Given the description of an element on the screen output the (x, y) to click on. 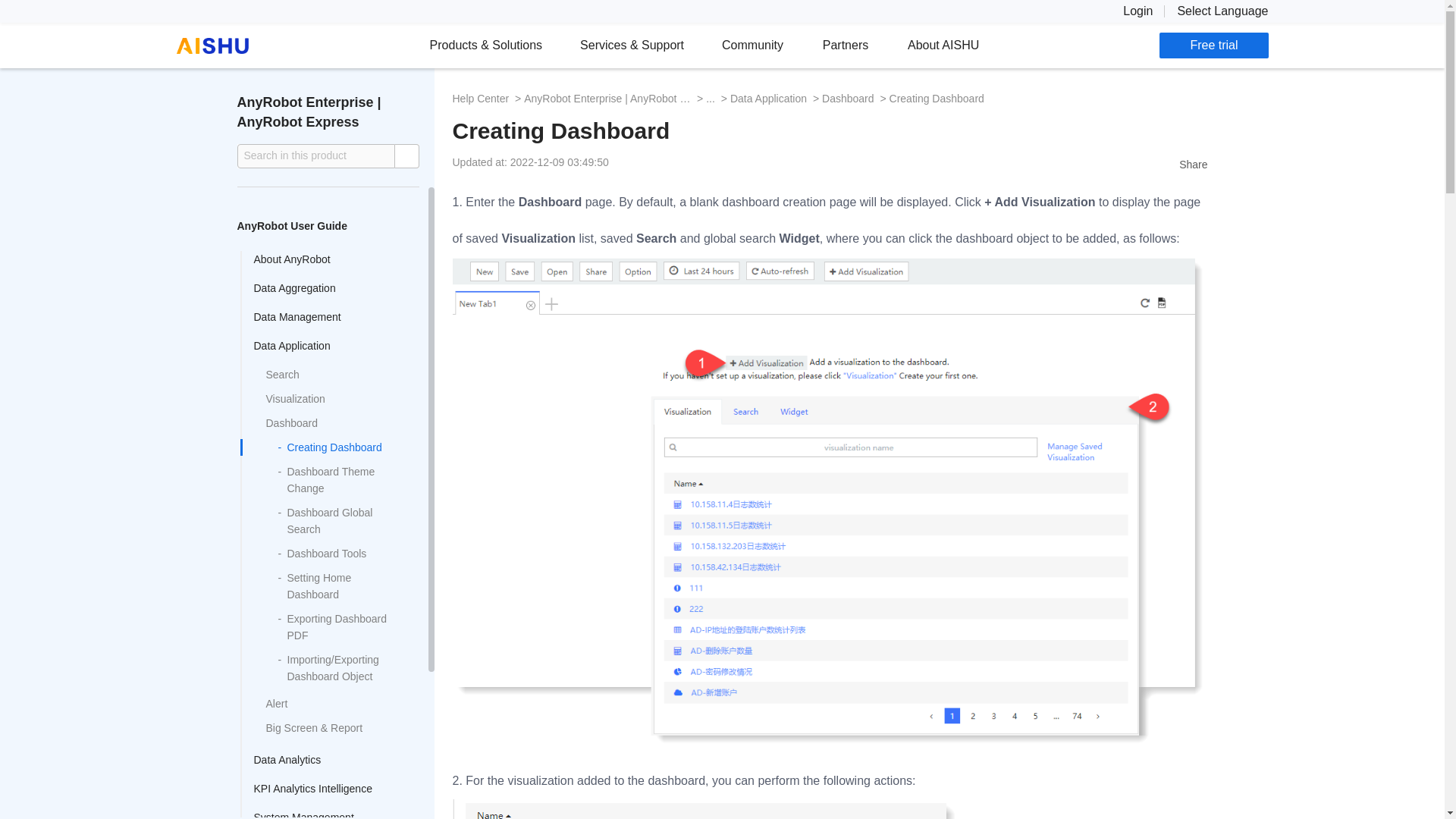
Creating Dashboard (829, 130)
Creating Dashboard (936, 98)
Login (1137, 10)
Dashboard (848, 98)
Data Application (768, 98)
Help Center (479, 98)
